Given the description of an element on the screen output the (x, y) to click on. 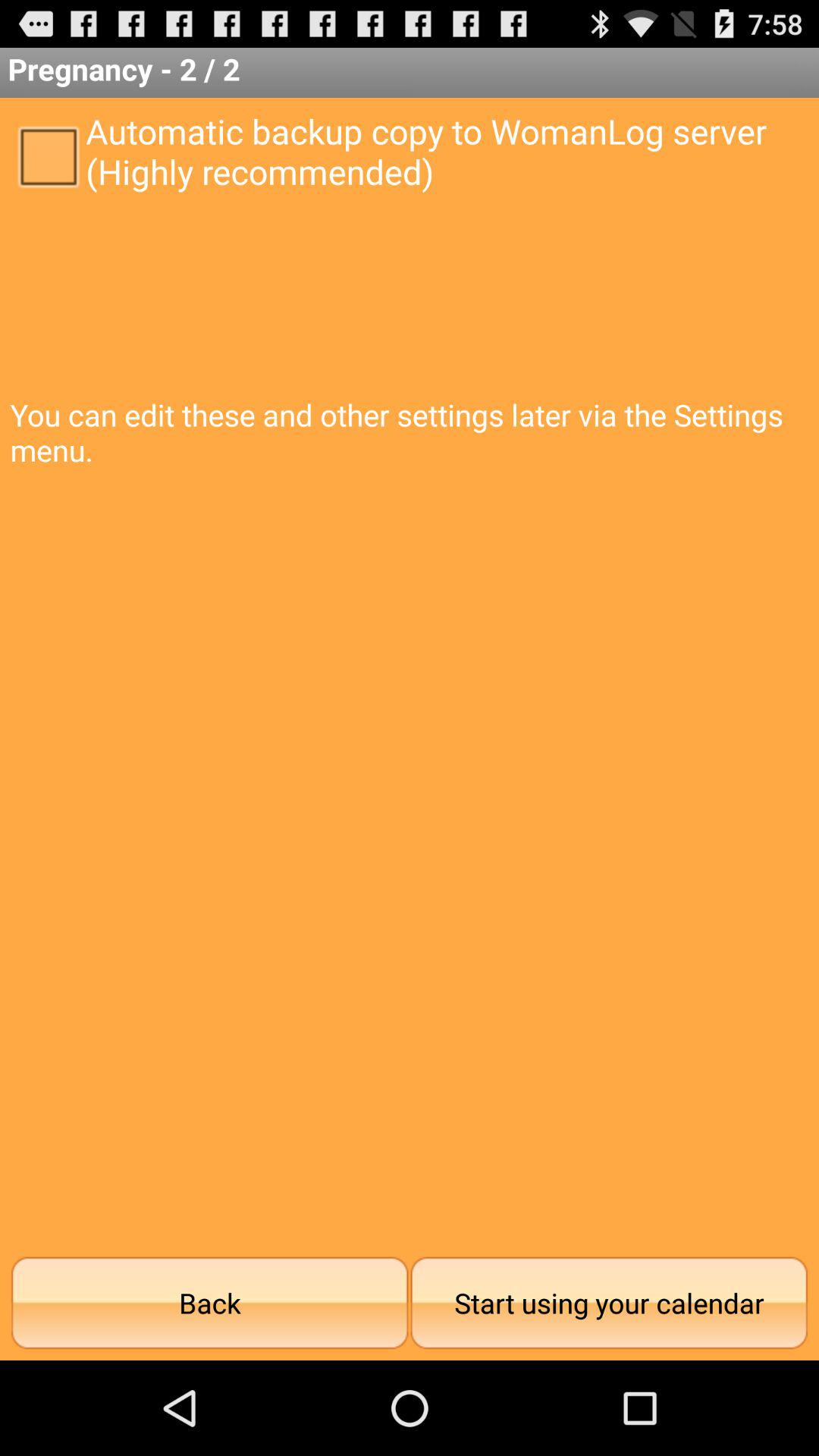
turn on icon below the pregnancy - 2 / 2 item (47, 155)
